Given the description of an element on the screen output the (x, y) to click on. 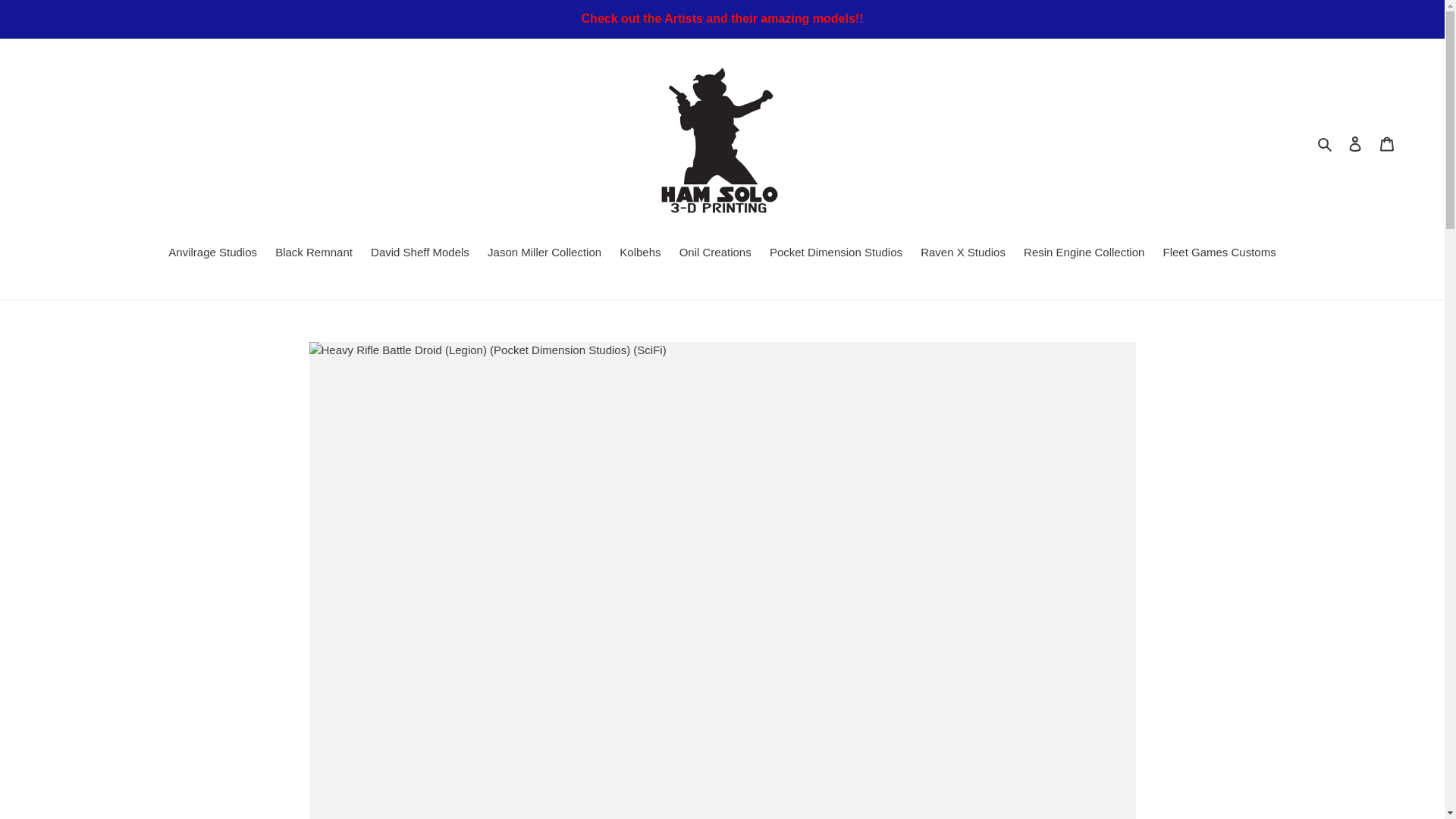
Anvilrage Studios (212, 253)
Fleet Games Customs (1220, 253)
Onil Creations (714, 253)
David Sheff Models (419, 253)
Raven X Studios (962, 253)
Search (1326, 143)
Jason Miller Collection (544, 253)
Black Remnant (313, 253)
Kolbehs (639, 253)
Log in (1355, 143)
